Given the description of an element on the screen output the (x, y) to click on. 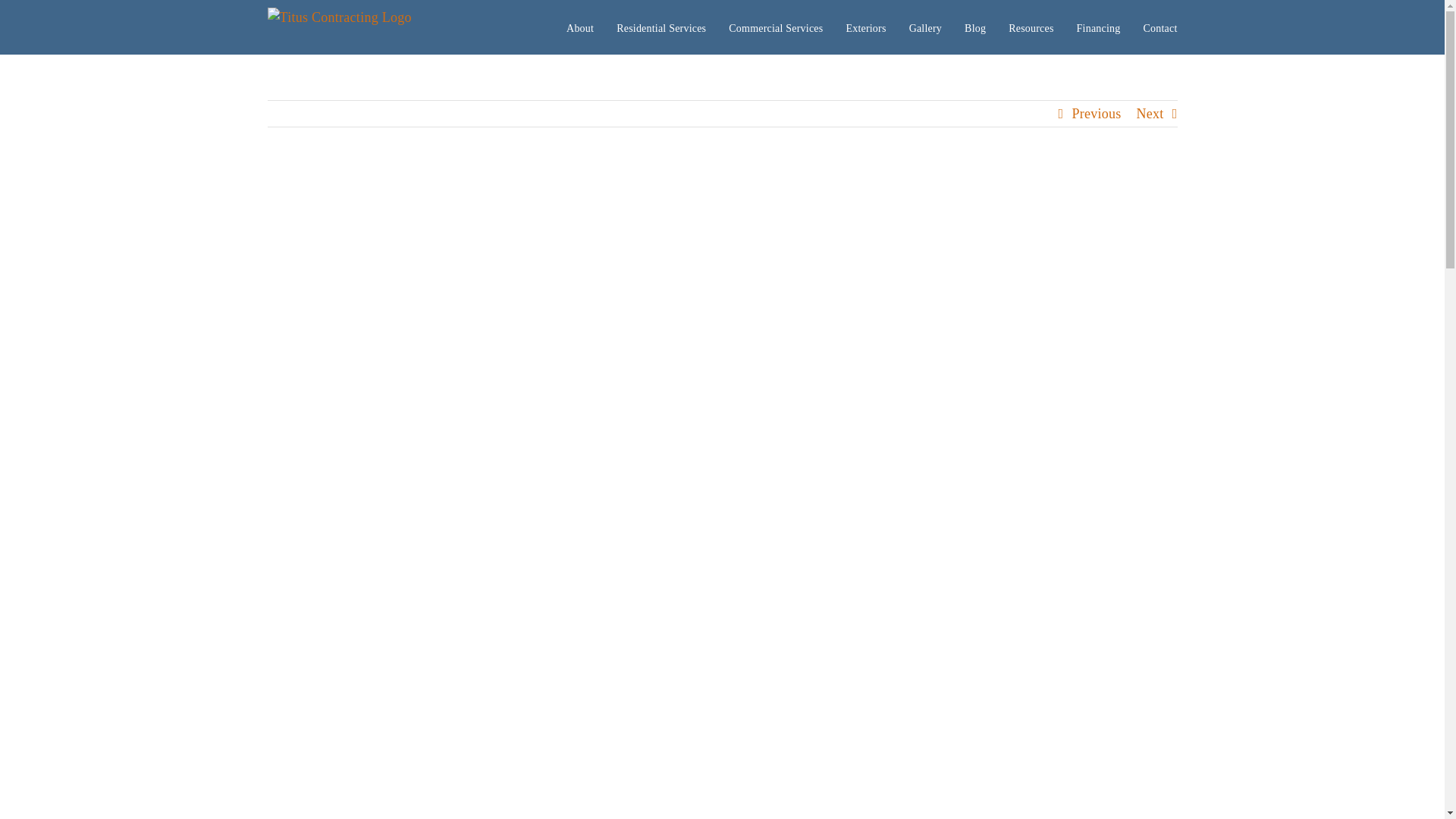
Residential Services (660, 27)
Previous (1096, 113)
Next (1149, 113)
Commercial Services (775, 27)
